Given the description of an element on the screen output the (x, y) to click on. 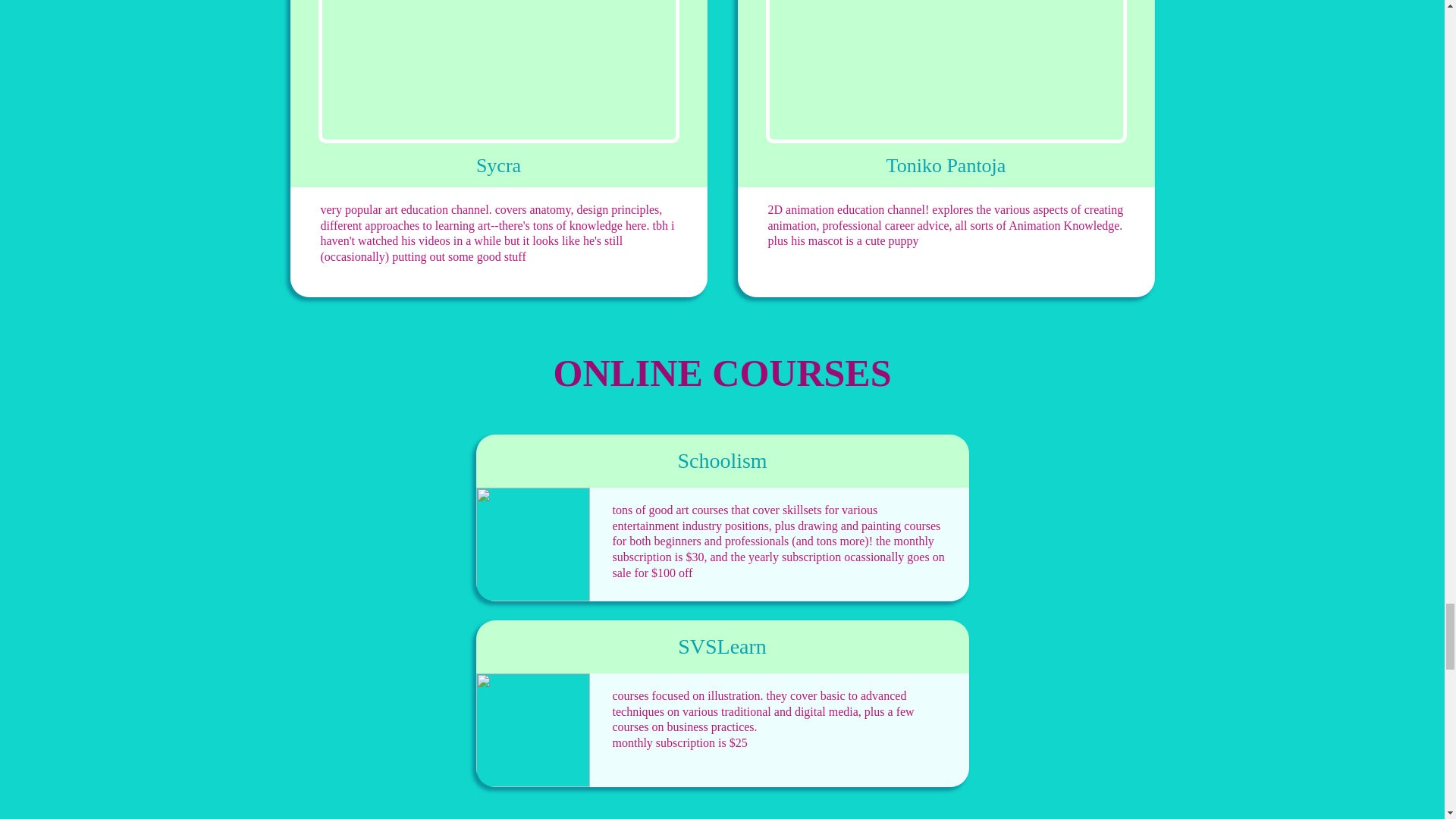
YouTube video player (498, 71)
